Given the description of an element on the screen output the (x, y) to click on. 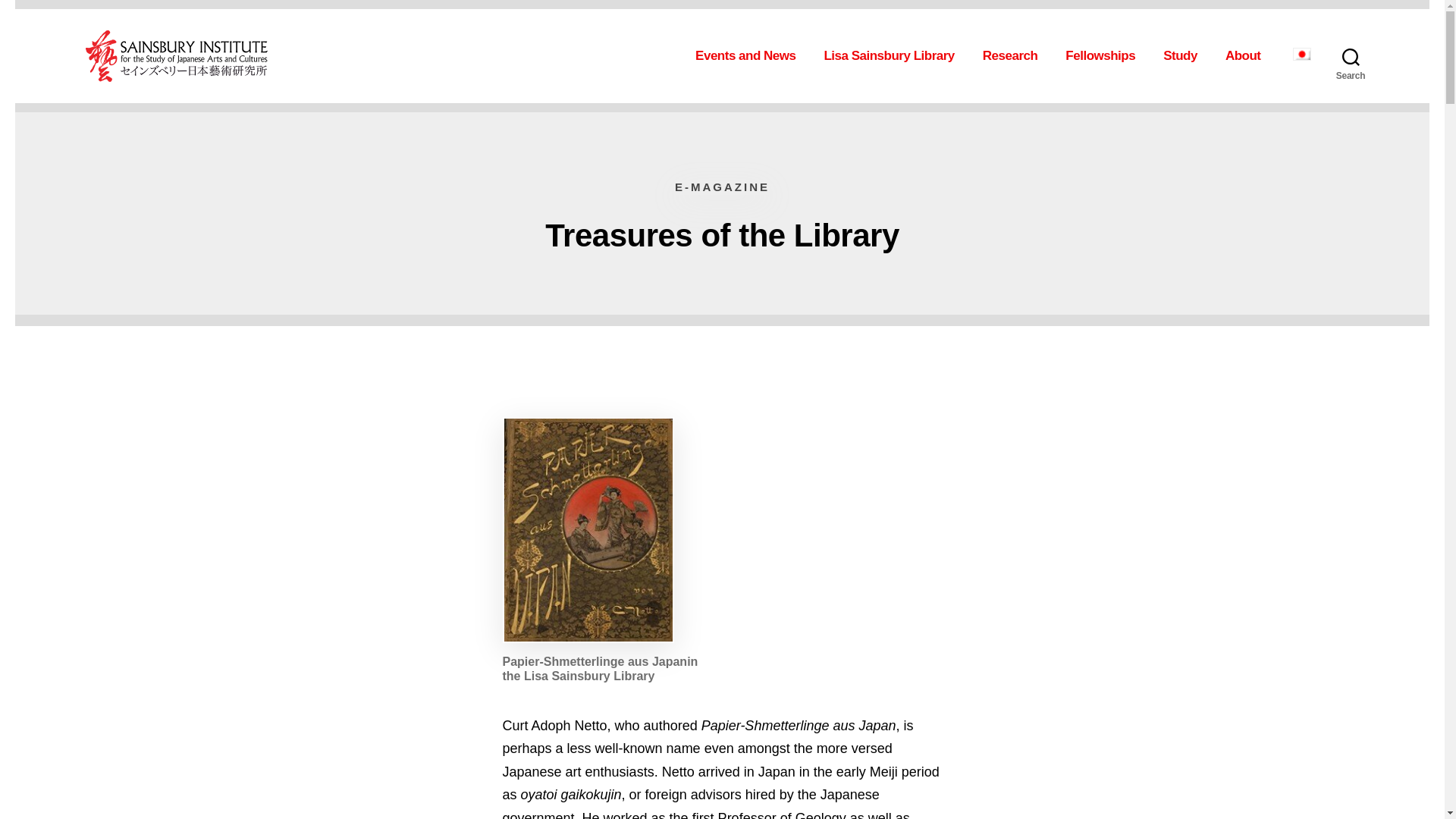
Fellowships (1104, 55)
About (1247, 55)
Lisa Sainsbury Library (893, 55)
Study (1185, 55)
Events and News (750, 55)
Research (1014, 55)
